Given the description of an element on the screen output the (x, y) to click on. 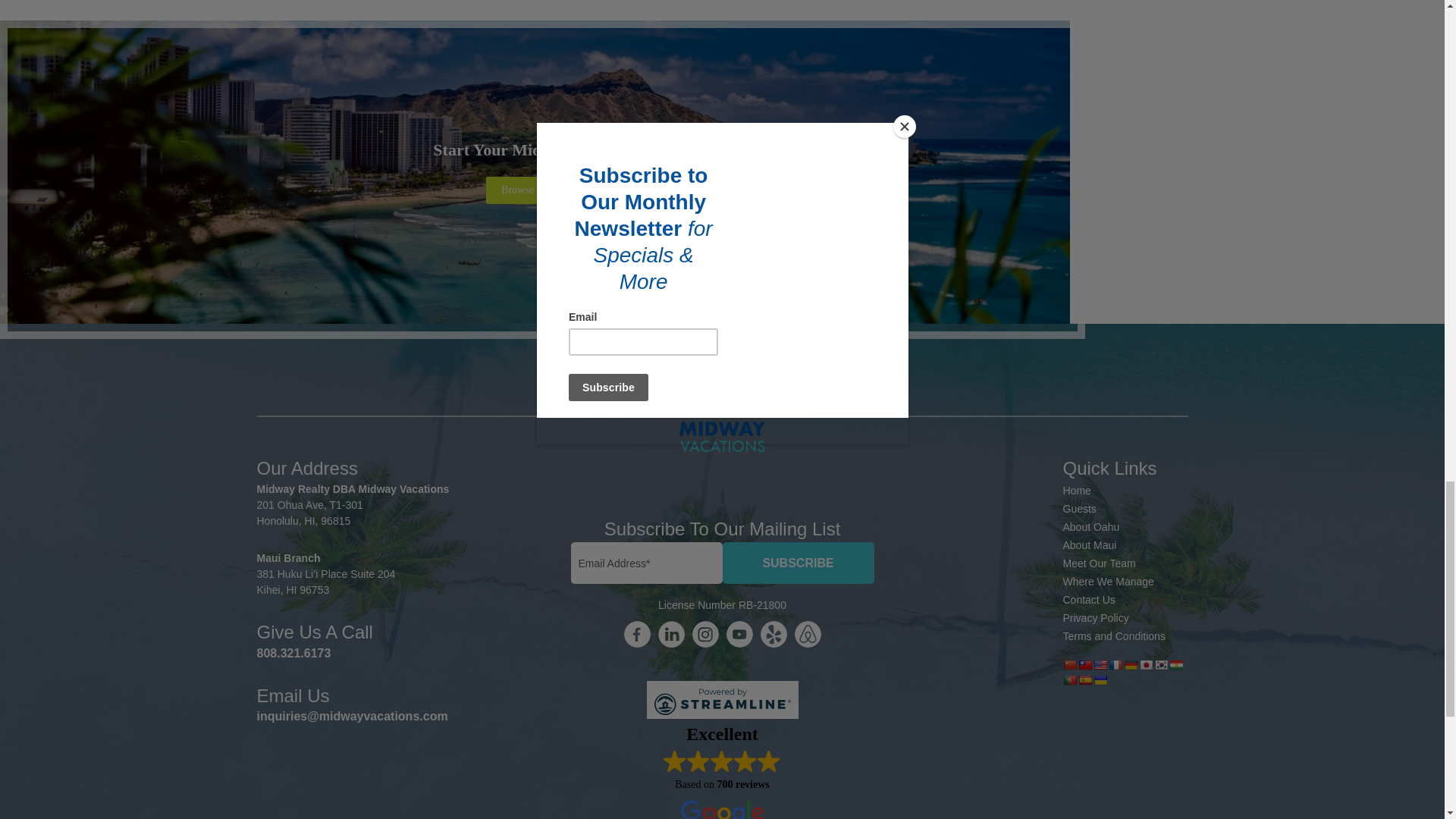
Streamline Vacation Rental Software (721, 699)
Subscribe (797, 562)
Korean (1160, 664)
linkedin (671, 633)
facebook (636, 633)
instagram (704, 633)
French (1115, 664)
Japanese (1145, 664)
youtube (739, 633)
English (1099, 664)
MV-Color-Icon-Text-1 (721, 414)
youtube (773, 633)
German (1130, 664)
youtube (807, 633)
